Given the description of an element on the screen output the (x, y) to click on. 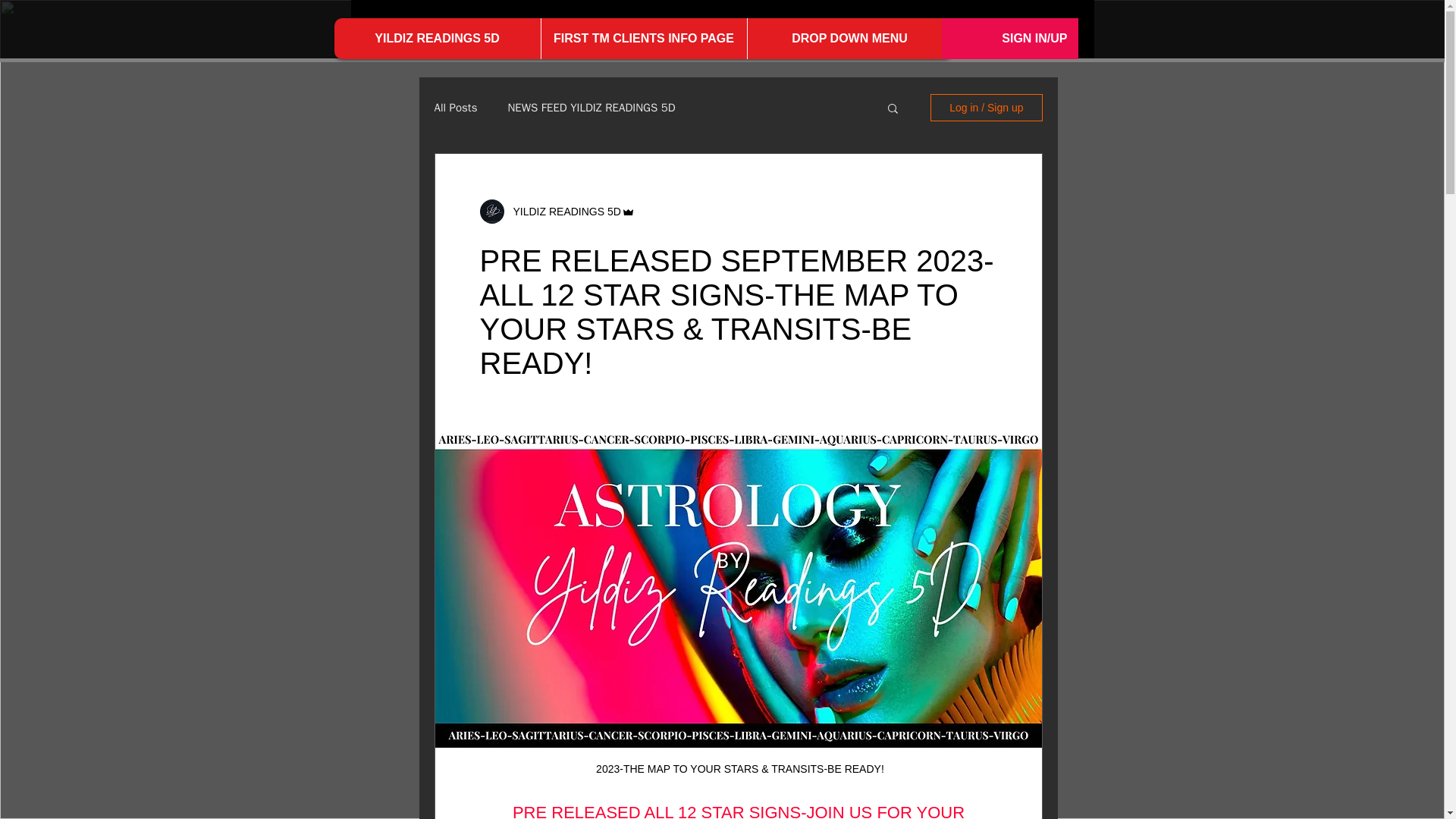
YILDIZ READINGS 5D (561, 211)
FIRST TM CLIENTS INFO PAGE (642, 38)
YILDIZ READINGS 5D (436, 38)
NEWS FEED YILDIZ READINGS 5D (590, 106)
All Posts (455, 106)
